Given the description of an element on the screen output the (x, y) to click on. 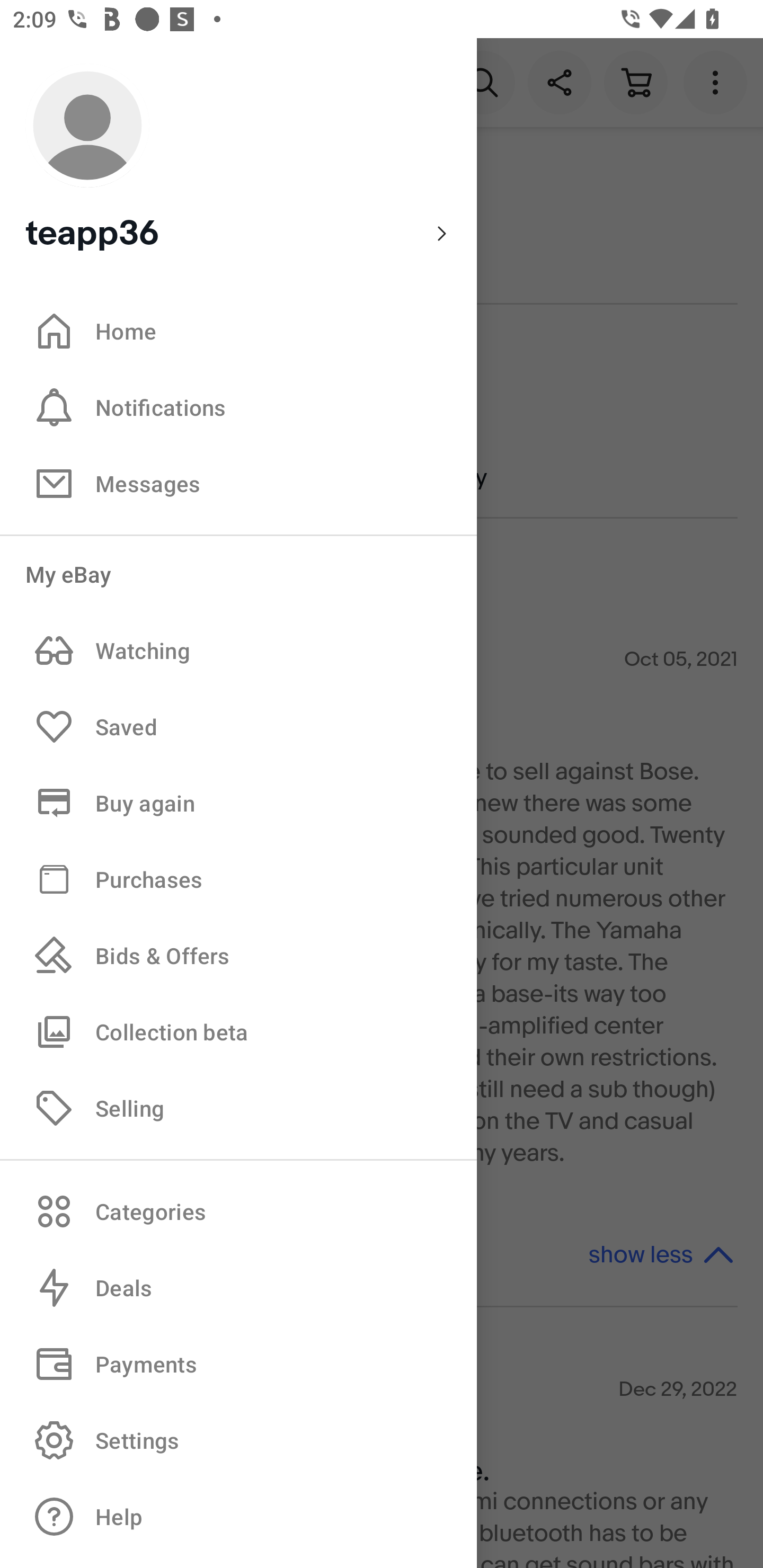
teapp36 (238, 158)
Home (238, 330)
Notifications (238, 406)
Messages (238, 483)
Watching (238, 650)
Saved (238, 726)
Buy again (238, 802)
Purchases (238, 878)
Bids & Offers (238, 955)
Collection beta (238, 1031)
Selling (238, 1107)
Categories (238, 1210)
Deals (238, 1287)
Payments (238, 1363)
Settings (238, 1439)
Help (238, 1516)
